Given the description of an element on the screen output the (x, y) to click on. 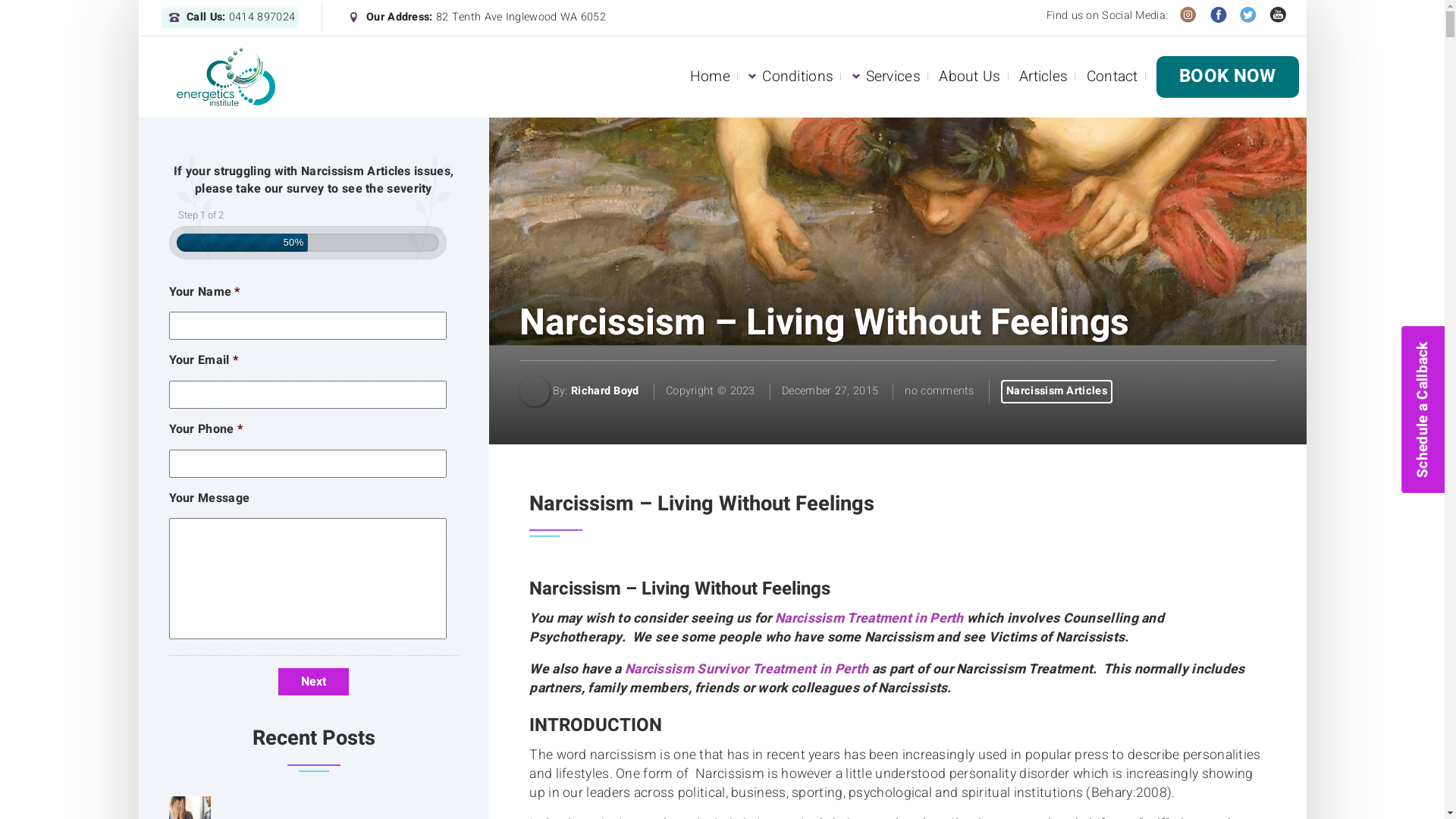
About Us Element type: text (969, 76)
Next Element type: text (313, 681)
Conditions Element type: text (797, 76)
Contact Element type: text (1112, 76)
Home Element type: text (710, 76)
Articles Element type: text (1043, 76)
Narcissism Survivor Treatment in Perth Element type: text (746, 668)
Services Element type: text (893, 76)
Narcissism Treatment in Perth Element type: text (869, 617)
Narcissism Articles Element type: text (1056, 390)
BOOK NOW Element type: text (1227, 76)
Richard Boyd Element type: text (605, 390)
